Given the description of an element on the screen output the (x, y) to click on. 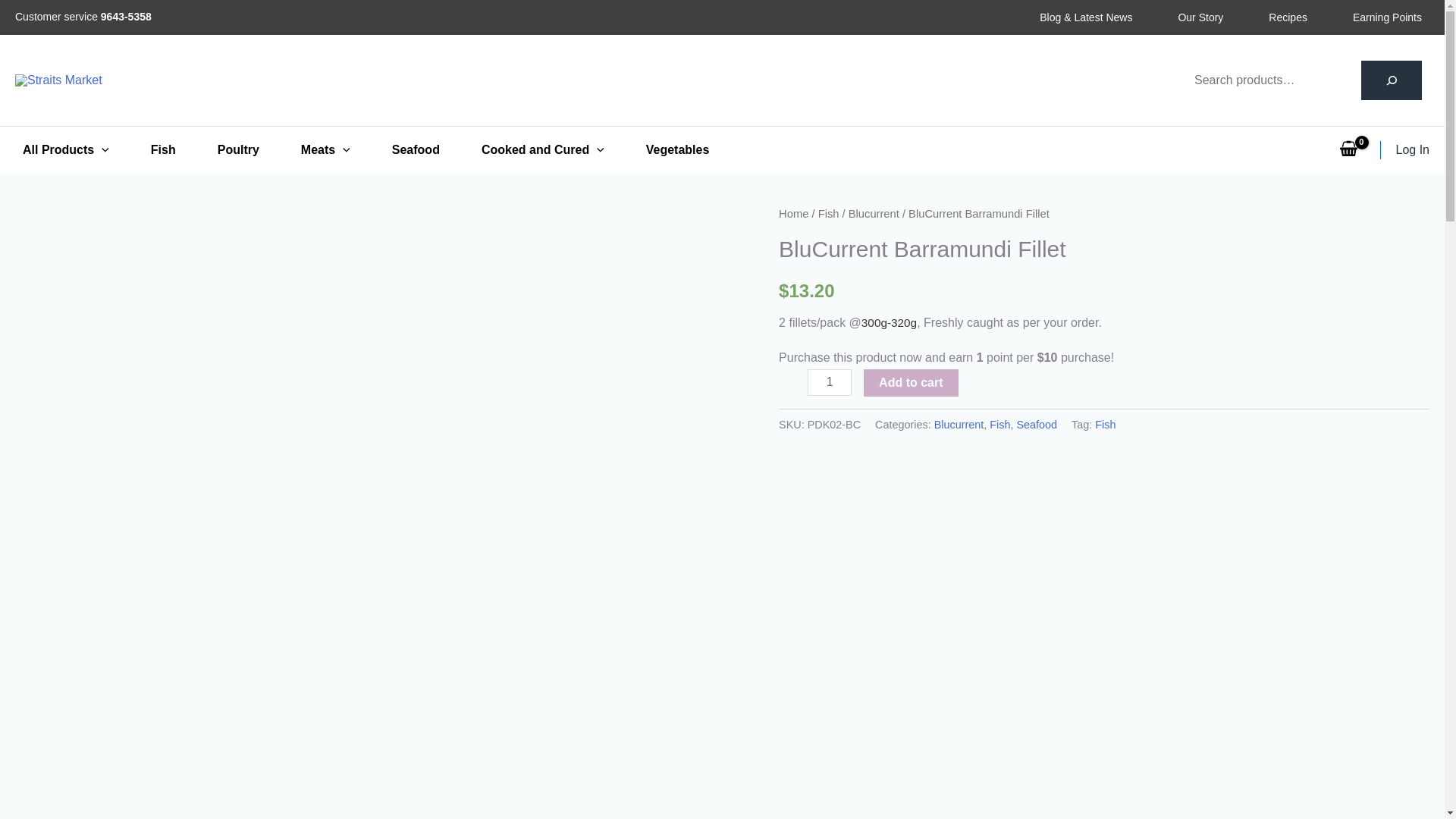
Earning Points (1372, 17)
1 (829, 382)
Our Story (1185, 17)
All Products (79, 149)
Recipes (1273, 17)
